Given the description of an element on the screen output the (x, y) to click on. 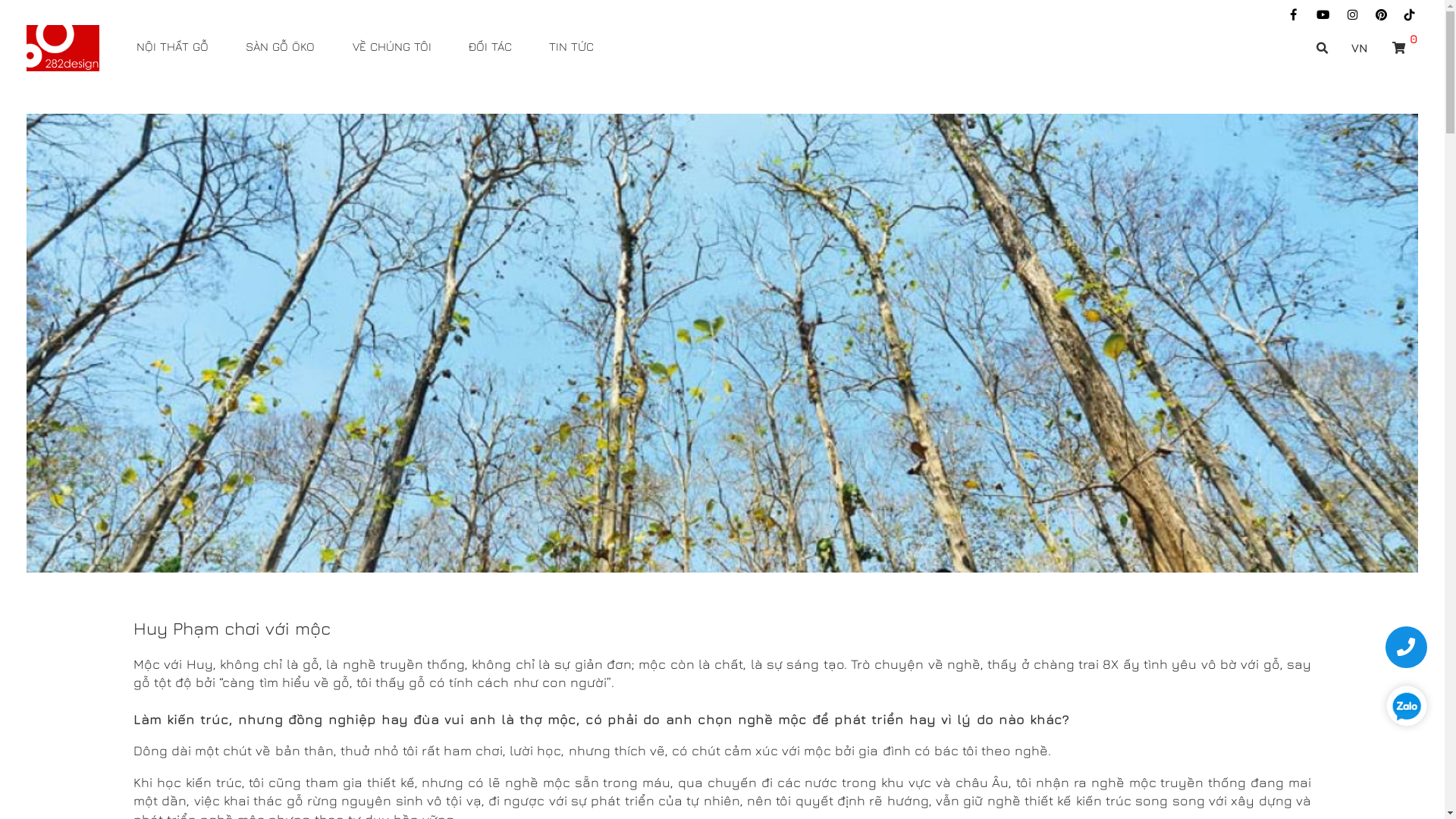
0 Element type: text (1276, 43)
